Given the description of an element on the screen output the (x, y) to click on. 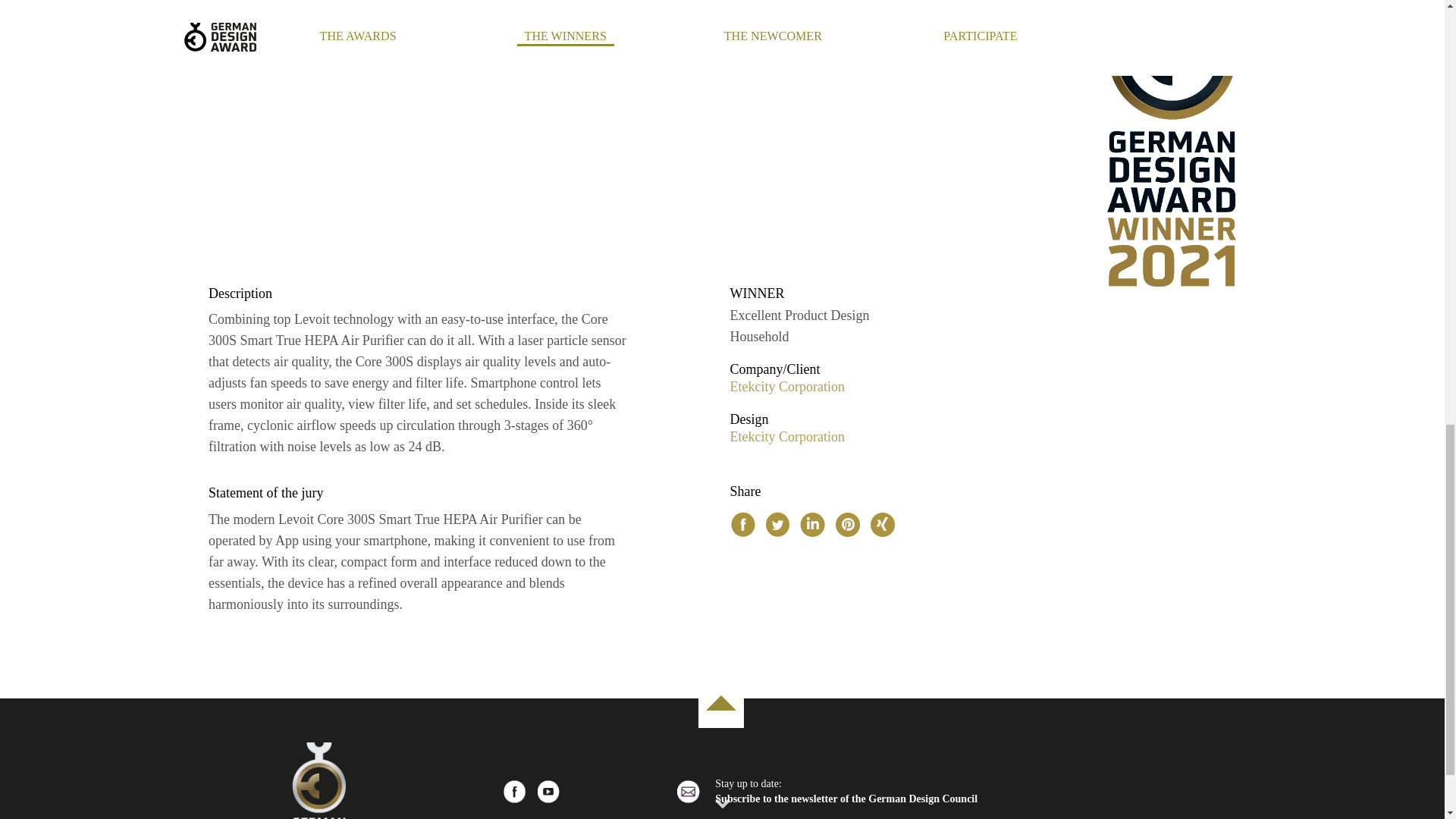
Etekcity Corporation (786, 386)
Pin it on Pinterest (847, 524)
Share on LinkedIn (813, 524)
Share on Facebook (743, 524)
Share on Twitter (778, 524)
Share on XING (882, 524)
Etekcity Corporation (786, 436)
